Given the description of an element on the screen output the (x, y) to click on. 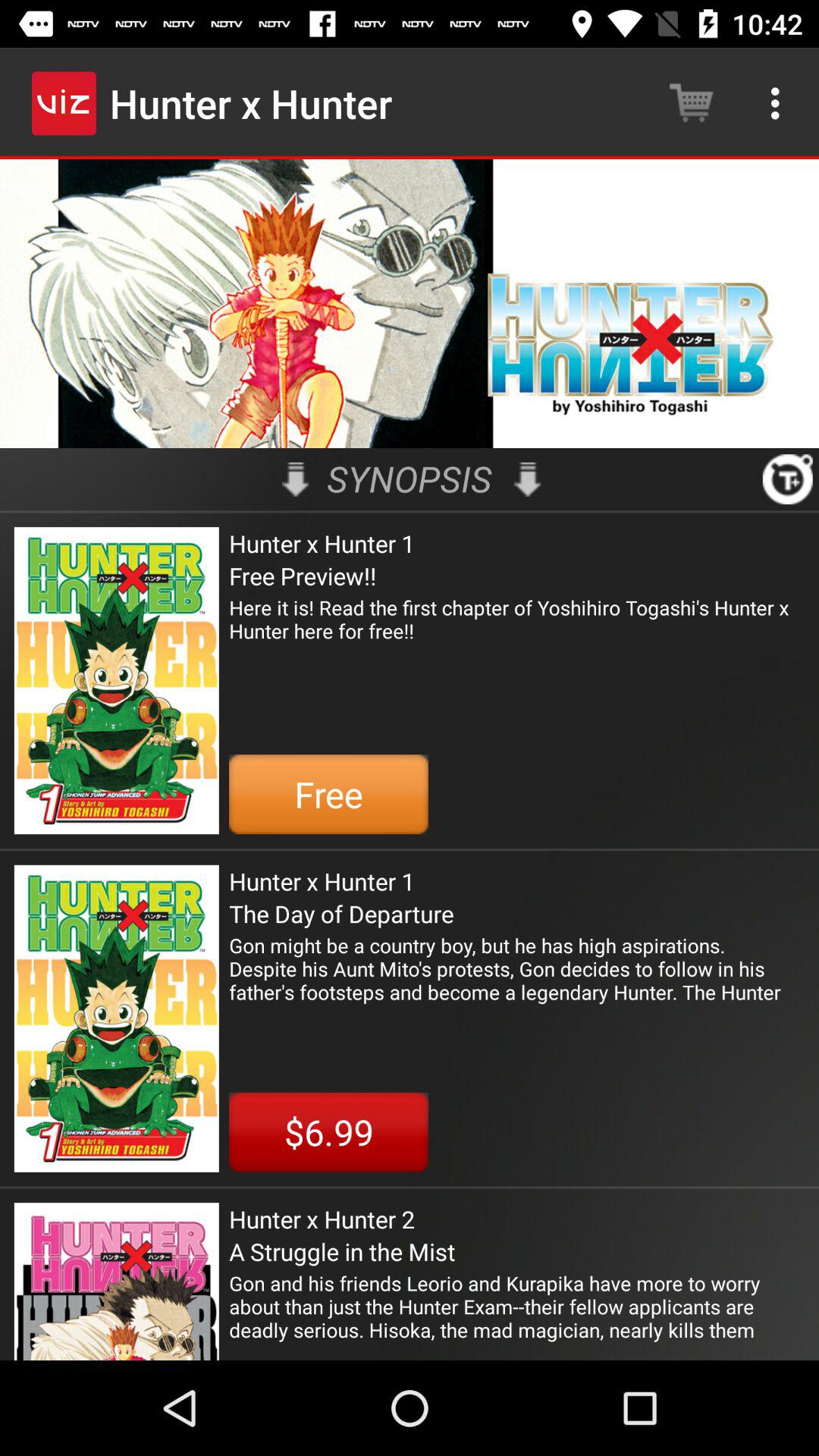
click icon below the day of item (516, 968)
